Given the description of an element on the screen output the (x, y) to click on. 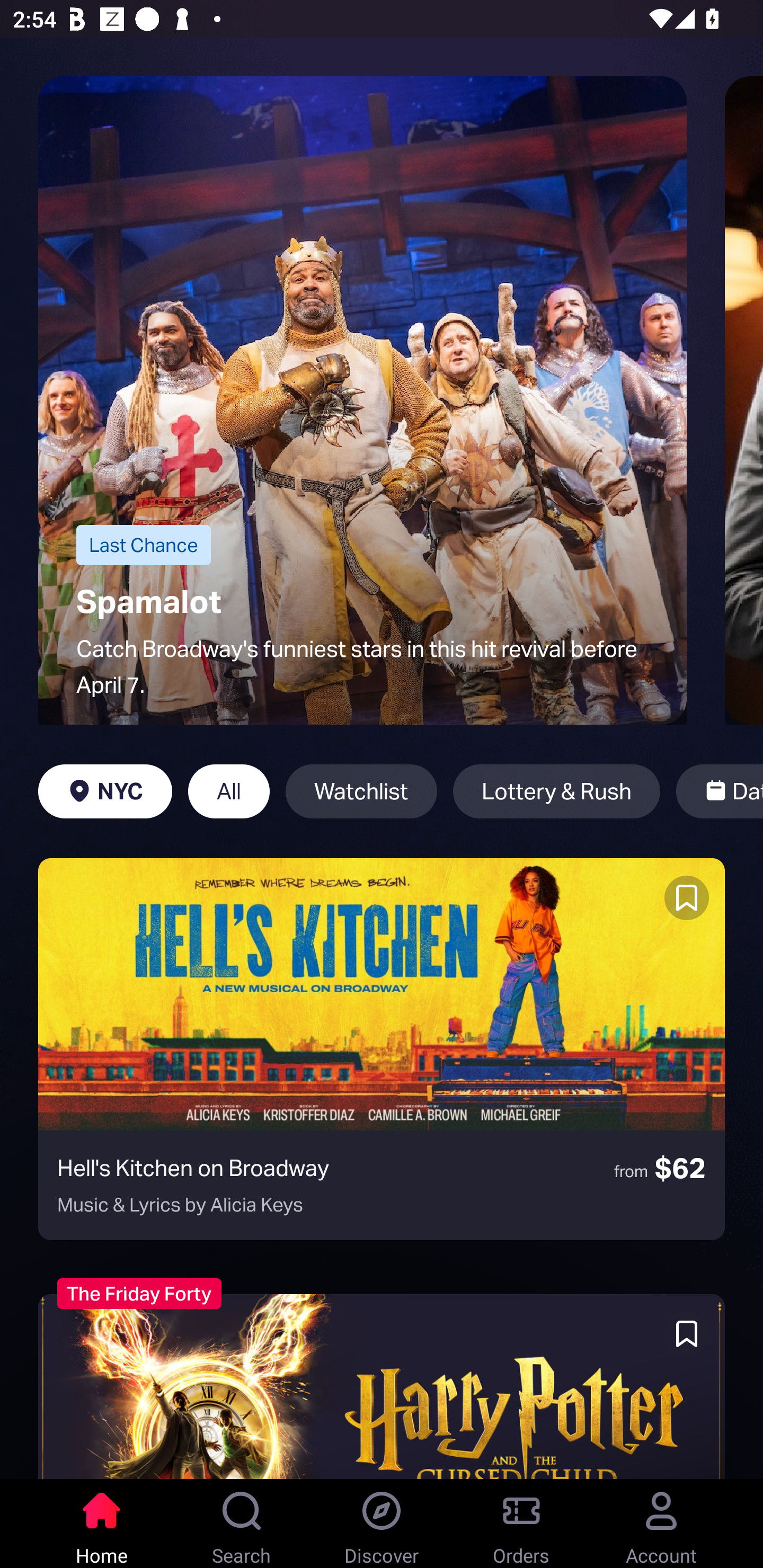
NYC (105, 791)
All (228, 791)
Watchlist (361, 791)
Lottery & Rush (556, 791)
Search (241, 1523)
Discover (381, 1523)
Orders (521, 1523)
Account (660, 1523)
